Given the description of an element on the screen output the (x, y) to click on. 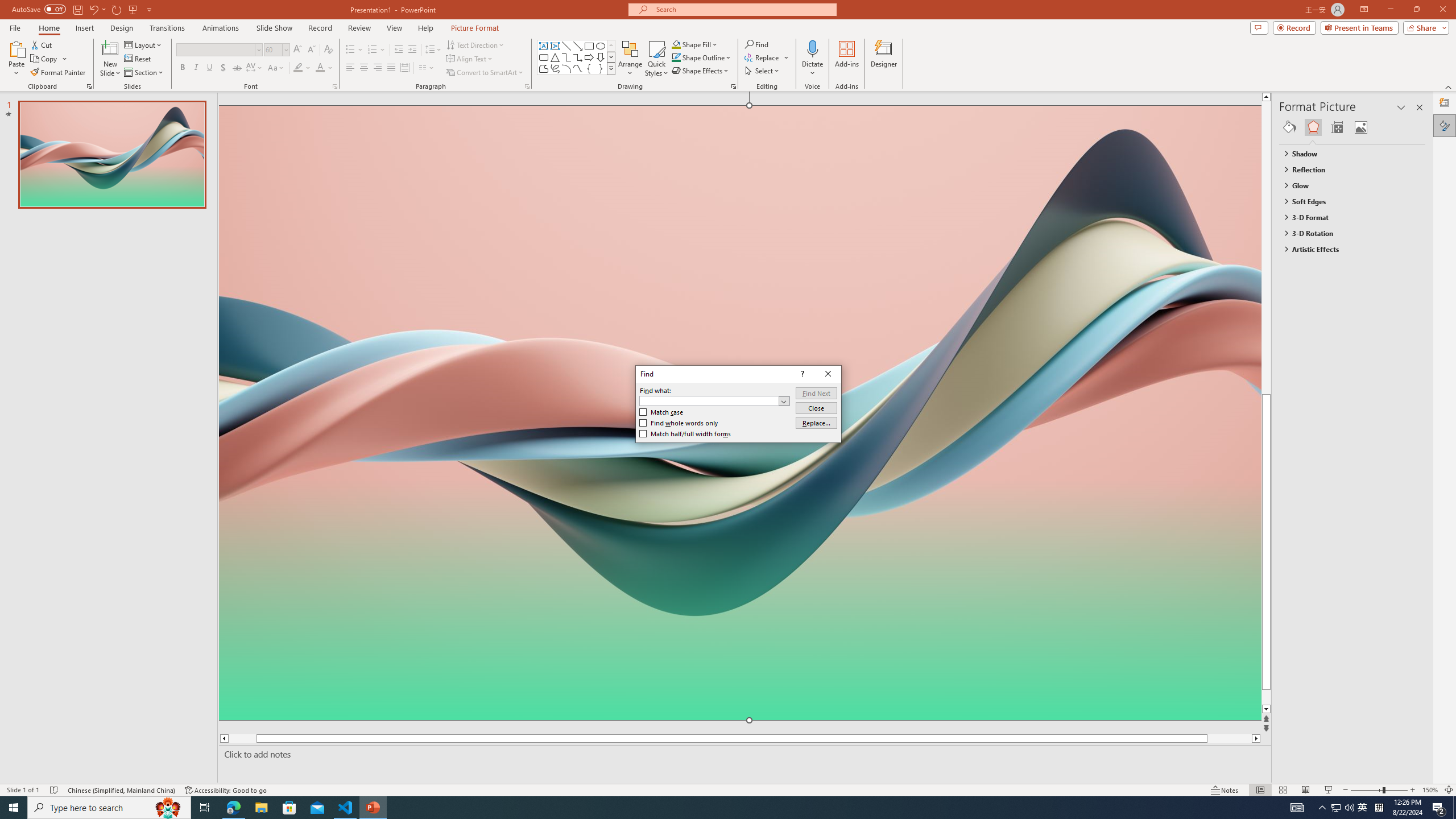
Artistic Effects (1347, 248)
